Given the description of an element on the screen output the (x, y) to click on. 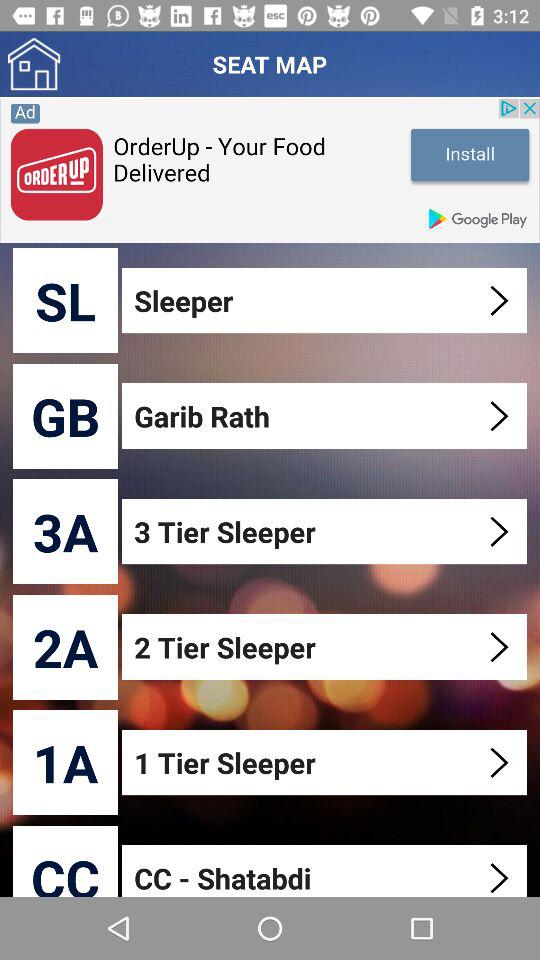
view information about the advertisement (269, 170)
